Given the description of an element on the screen output the (x, y) to click on. 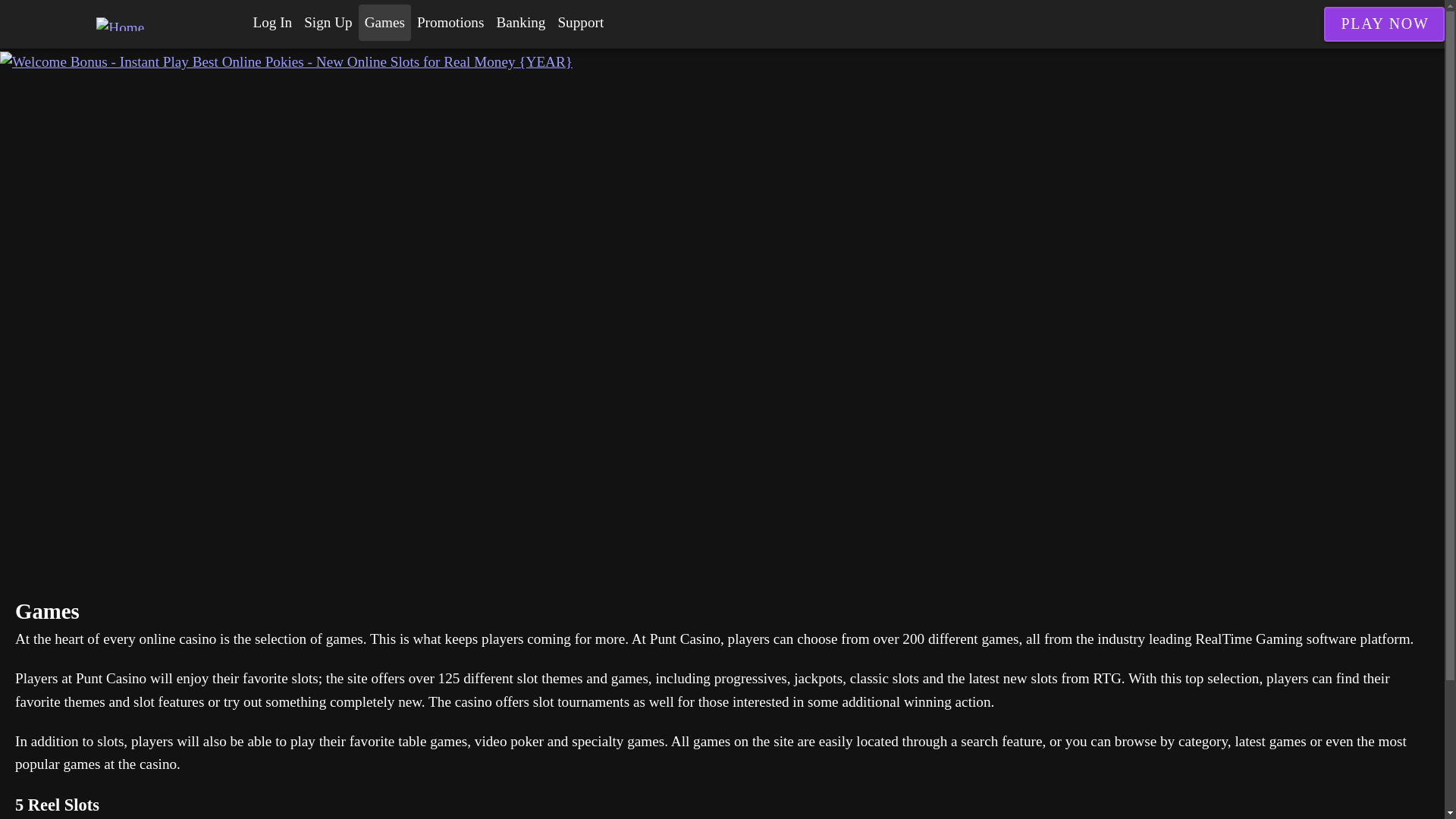
Promotions (450, 22)
Banking (520, 22)
Support (580, 22)
Sign Up (328, 22)
Games (384, 22)
Log In (272, 22)
